Given the description of an element on the screen output the (x, y) to click on. 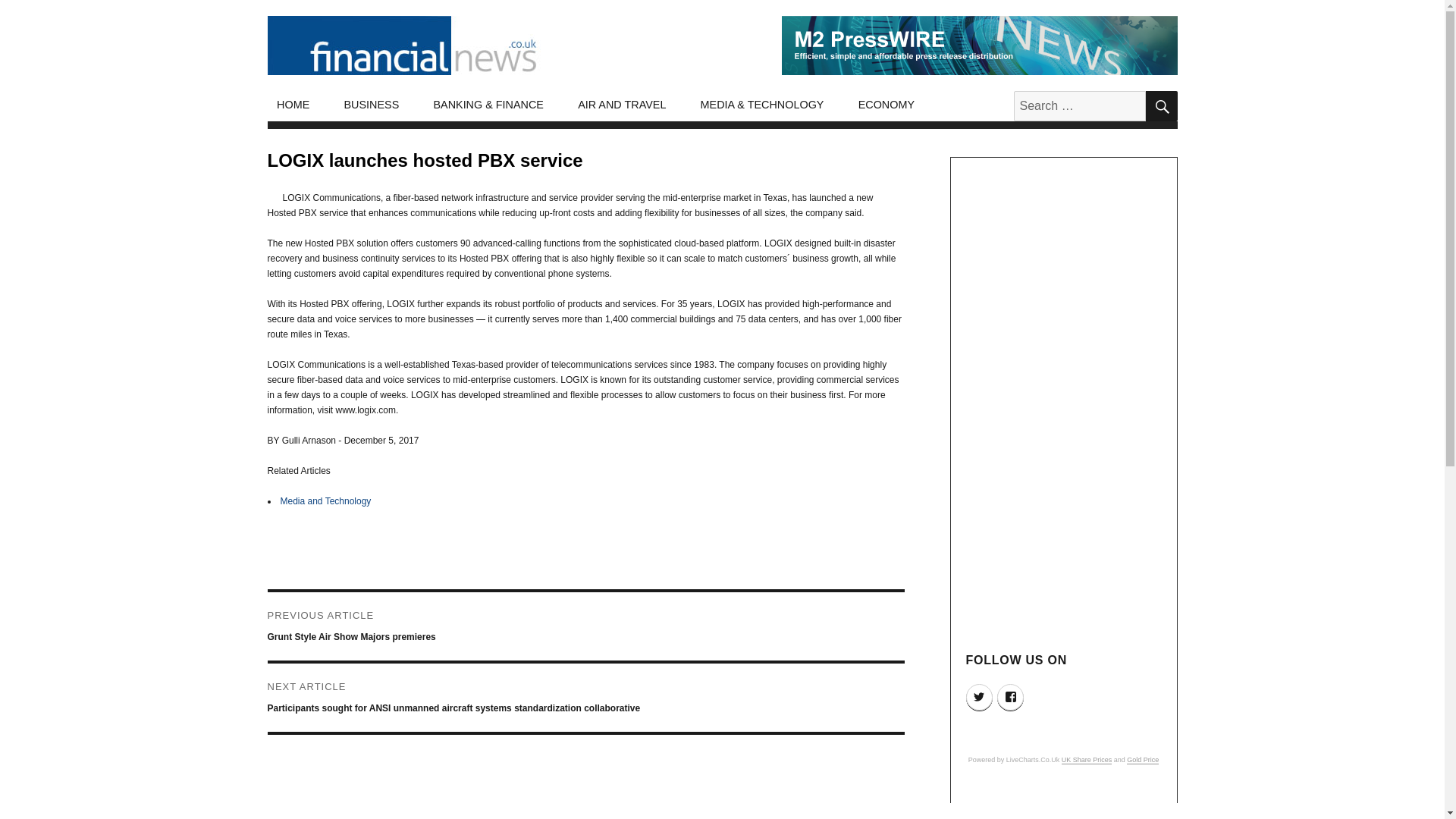
UK Share Prices (1086, 759)
BUSINESS (371, 104)
SEARCH (1160, 105)
Gold Price (1142, 759)
AIR AND TRAVEL (622, 104)
Media and Technology (326, 501)
HOME (292, 104)
ECONOMY (886, 104)
TWITTER (979, 696)
Advertisement (1065, 804)
FACEBOOK (1010, 696)
Advertisement (588, 809)
